Given the description of an element on the screen output the (x, y) to click on. 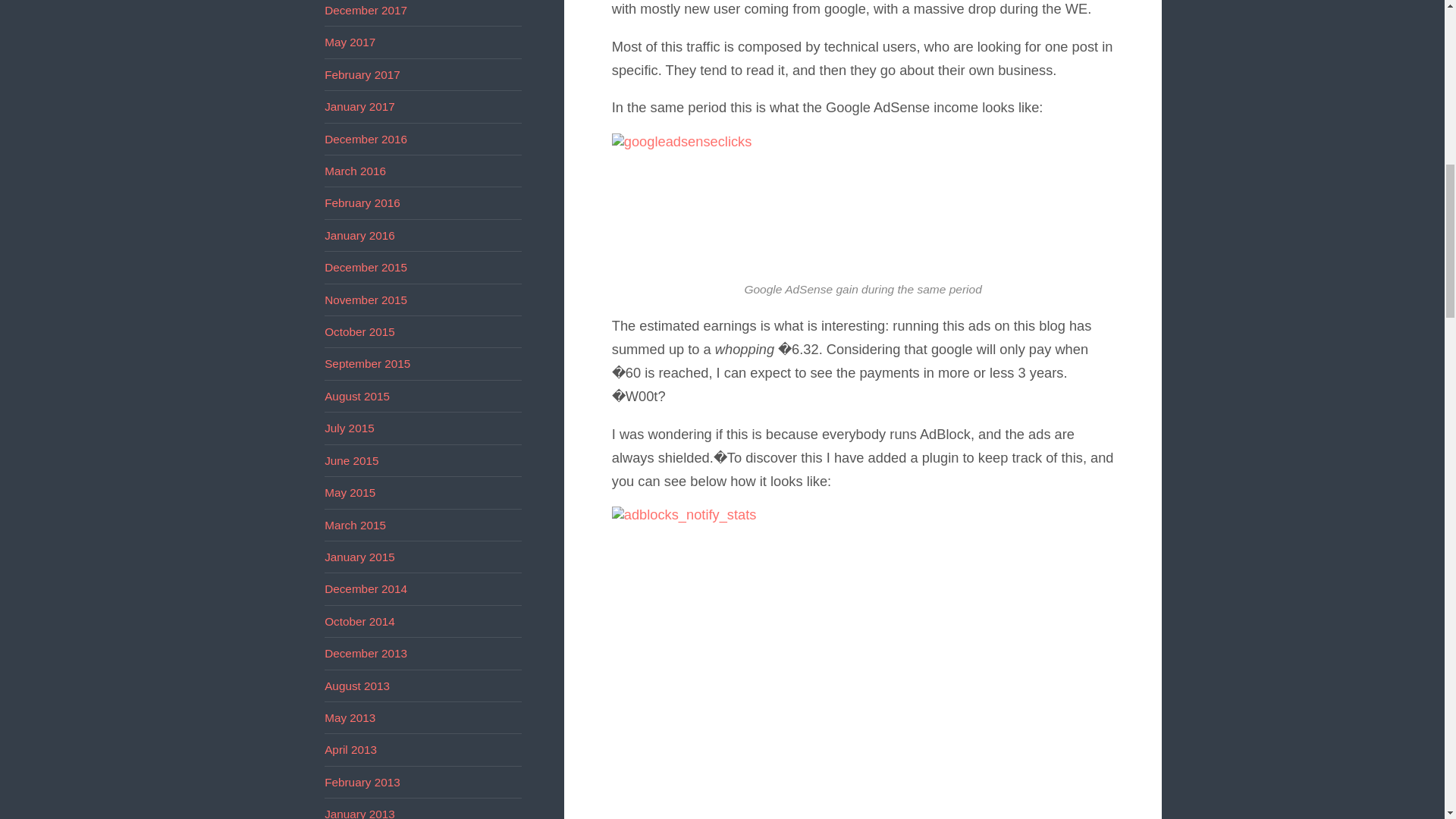
January 2015 (359, 556)
February 2016 (362, 202)
March 2016 (354, 170)
December 2014 (365, 588)
December 2015 (365, 267)
May 2015 (349, 492)
May 2017 (349, 42)
December 2017 (365, 10)
December 2016 (365, 138)
February 2017 (362, 74)
